Given the description of an element on the screen output the (x, y) to click on. 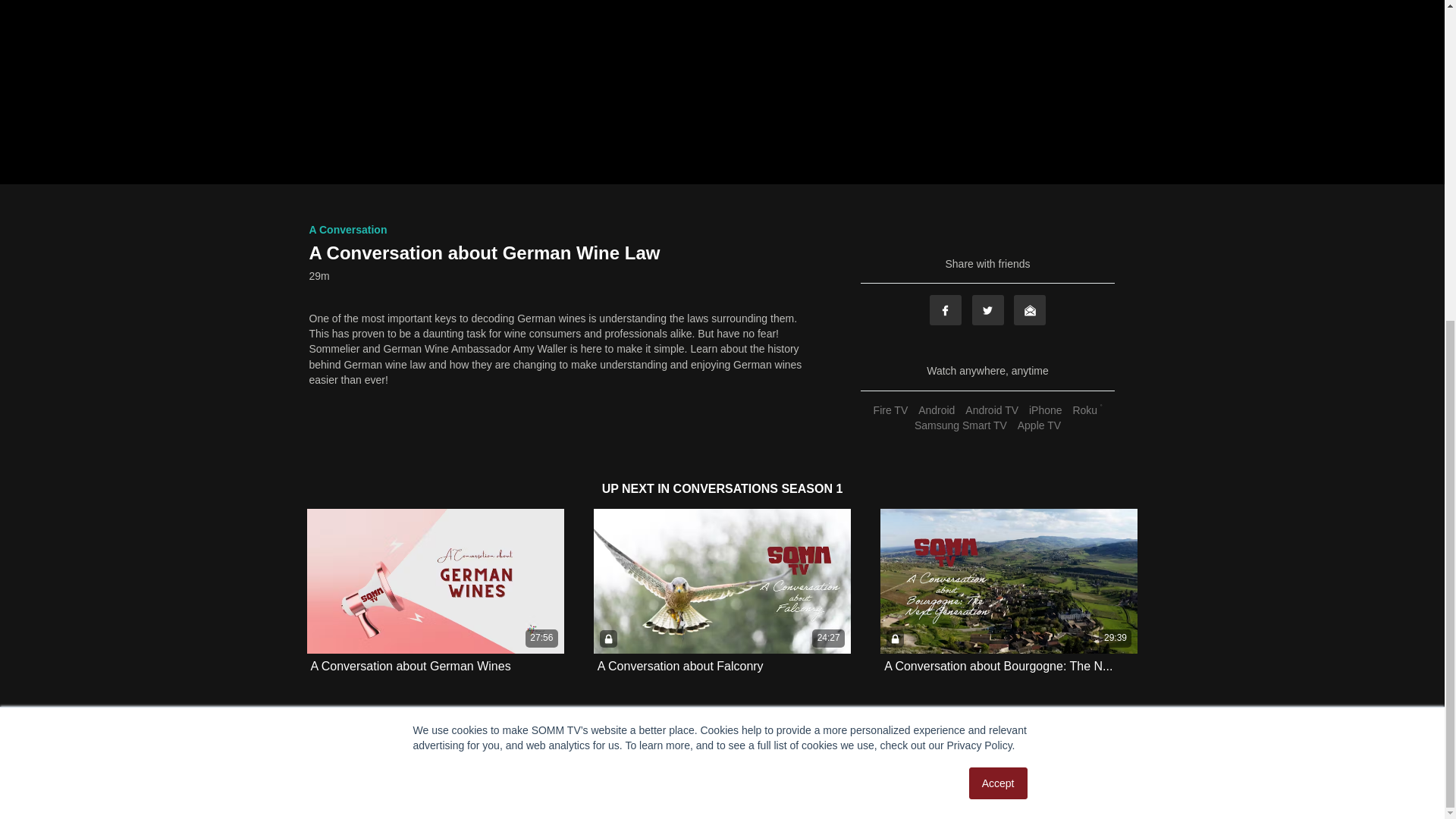
27:56 (434, 580)
A Conversation about Falconry (679, 666)
Twitter (988, 309)
24:27 (722, 580)
A Conversation about German Wines (411, 666)
Email (1029, 309)
A Conversation about Bourgogne: The N... (997, 666)
A Conversation about German Wines (411, 666)
29:39 (1008, 580)
Facebook (945, 309)
